Given the description of an element on the screen output the (x, y) to click on. 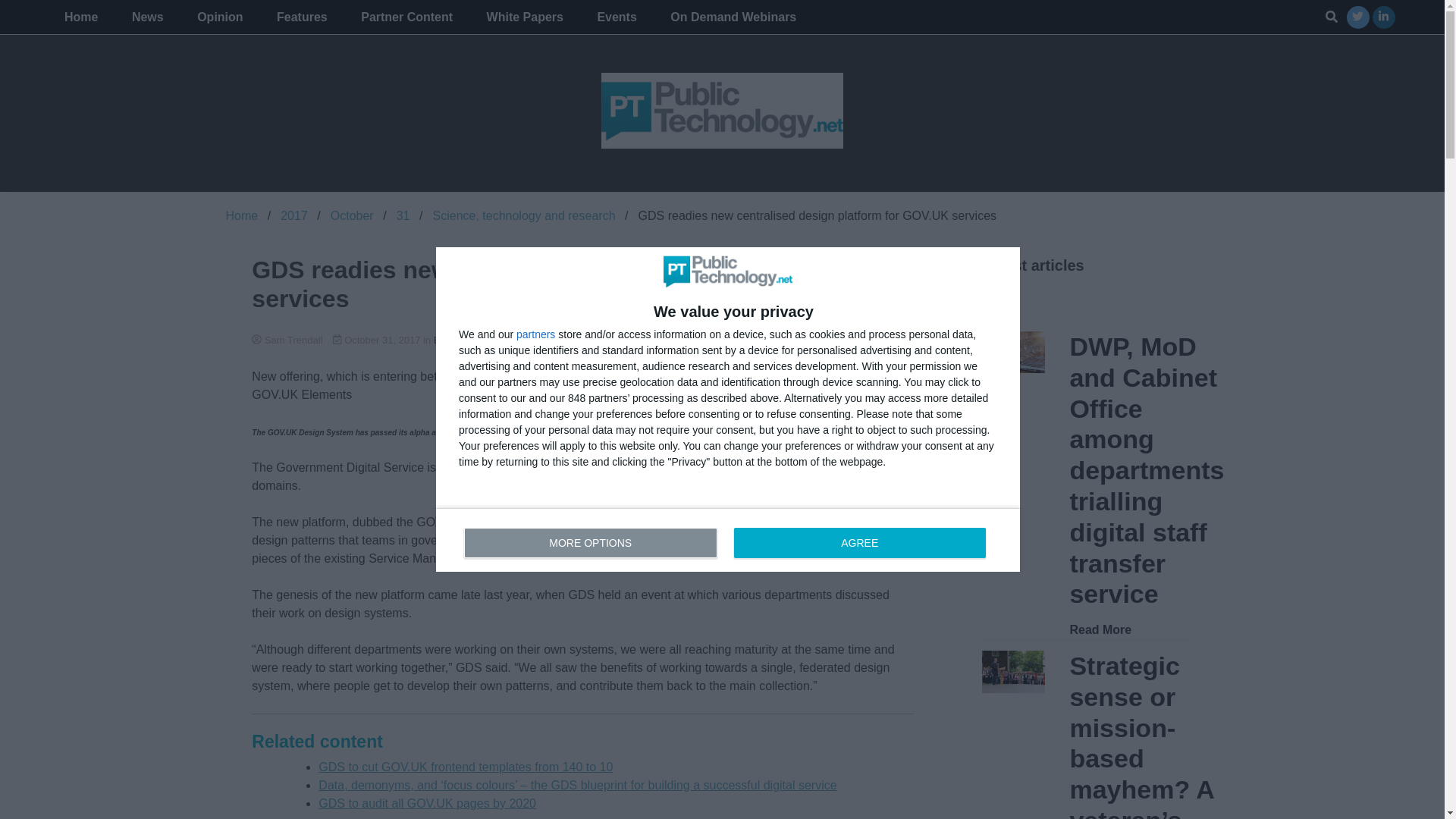
GDS to cut GOV.UK frontend templates from 140 to 10 (465, 766)
Home (81, 17)
AGREE (859, 542)
White Papers (524, 17)
Science, technology and research (523, 215)
Collaboration (730, 339)
Home (242, 215)
News (147, 17)
MORE OPTIONS (590, 542)
Events (727, 539)
2017 (615, 17)
Opinion (294, 215)
Science, Technology And Research (219, 17)
Education And Skills (593, 340)
